Given the description of an element on the screen output the (x, y) to click on. 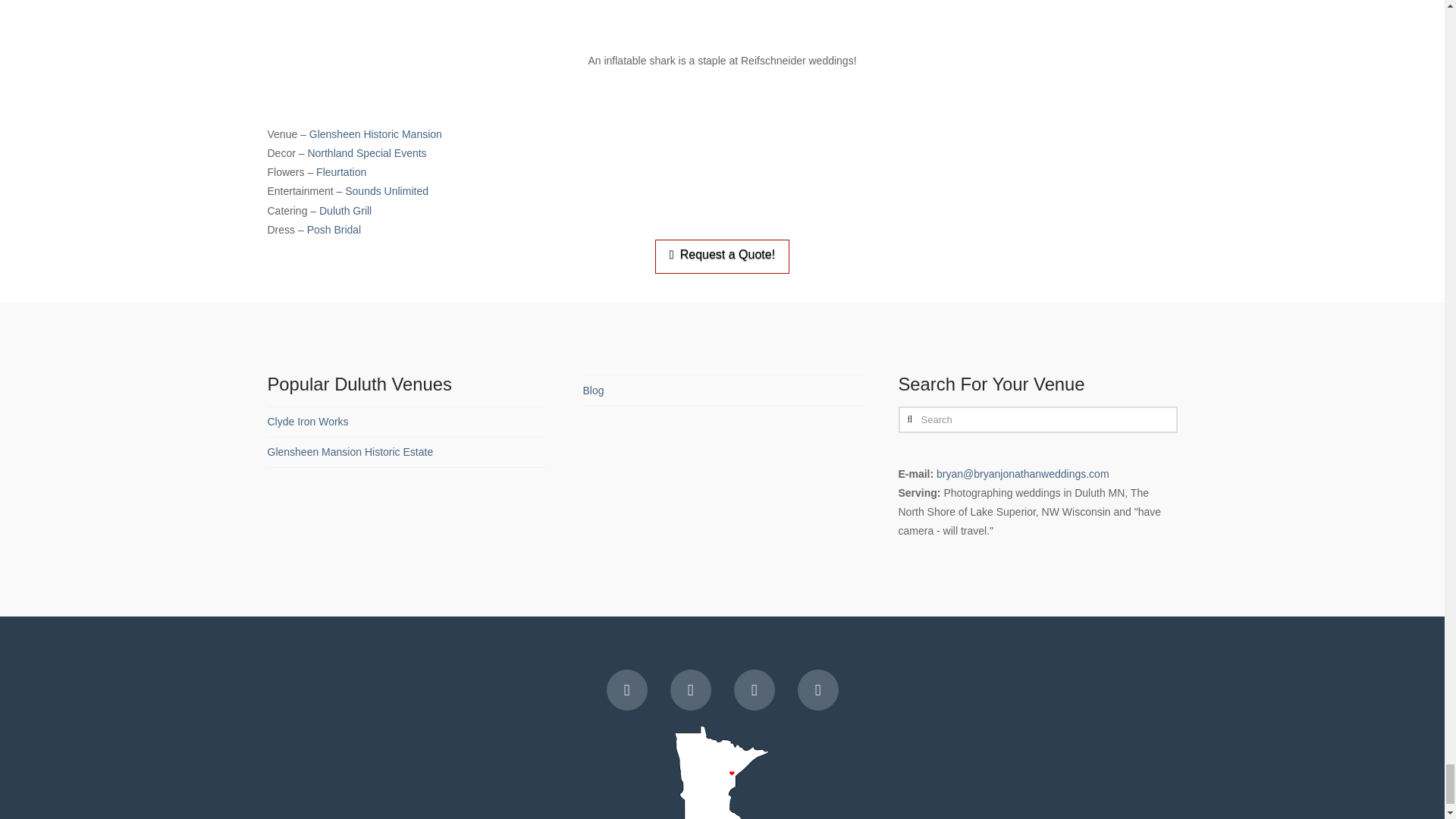
Posh Bridal (334, 229)
Instagram (753, 689)
Northland Special Events (366, 152)
Vimeo (690, 689)
Glensheen Historic Mansion Weddings in Duluth, MN (375, 133)
Northland Special Events (366, 152)
Duluth Grill (344, 210)
Sounds Unlimited Entertainment (386, 191)
Fleurtation by Northland Special Events (340, 172)
Glensheen Historic Mansion (375, 133)
Pinterest (817, 689)
Posh Bridal (334, 229)
Facebook (627, 689)
Catering by Duluth Grill (344, 210)
Fleurtation (340, 172)
